Given the description of an element on the screen output the (x, y) to click on. 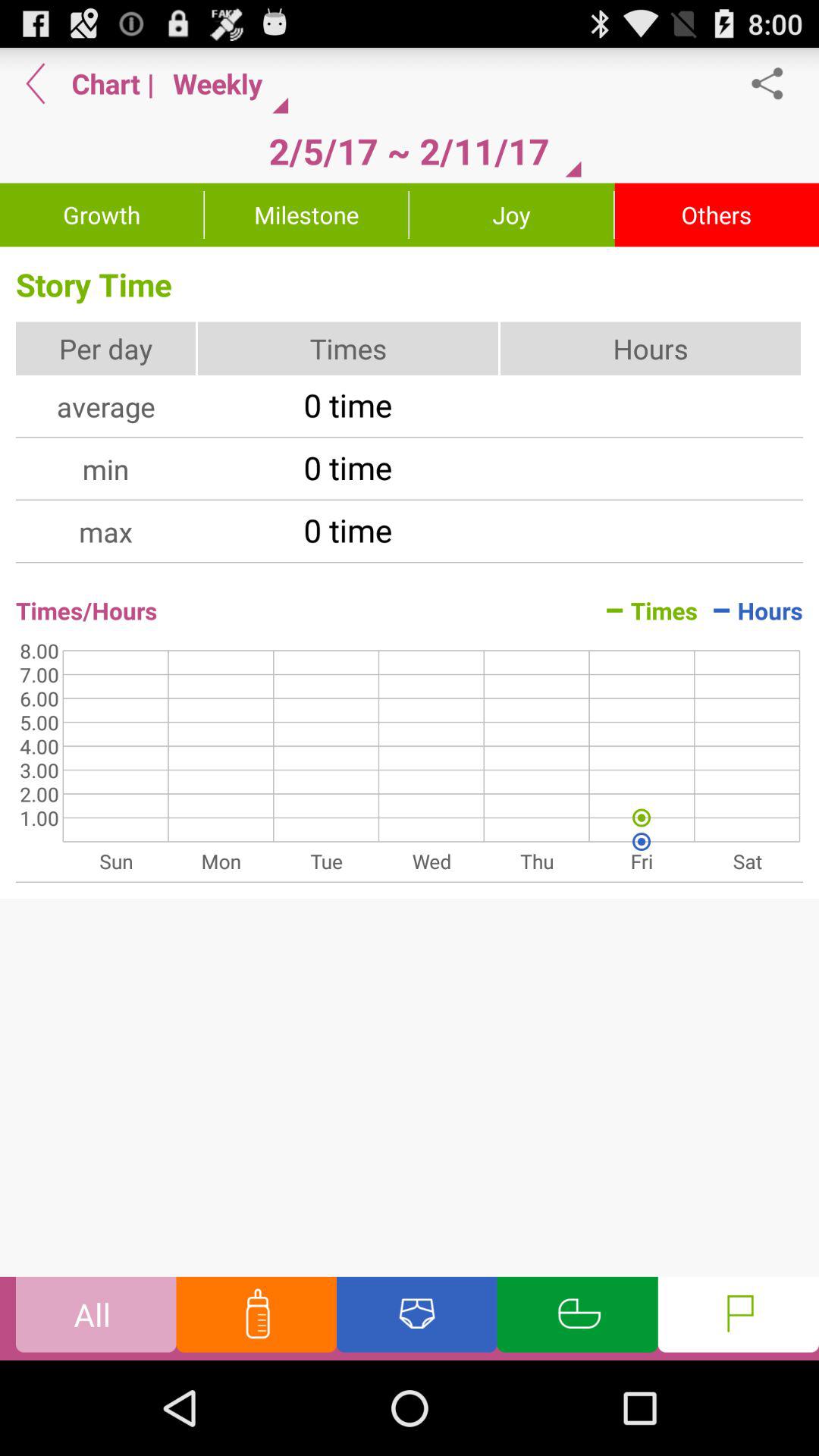
flip until the joy item (511, 214)
